Given the description of an element on the screen output the (x, y) to click on. 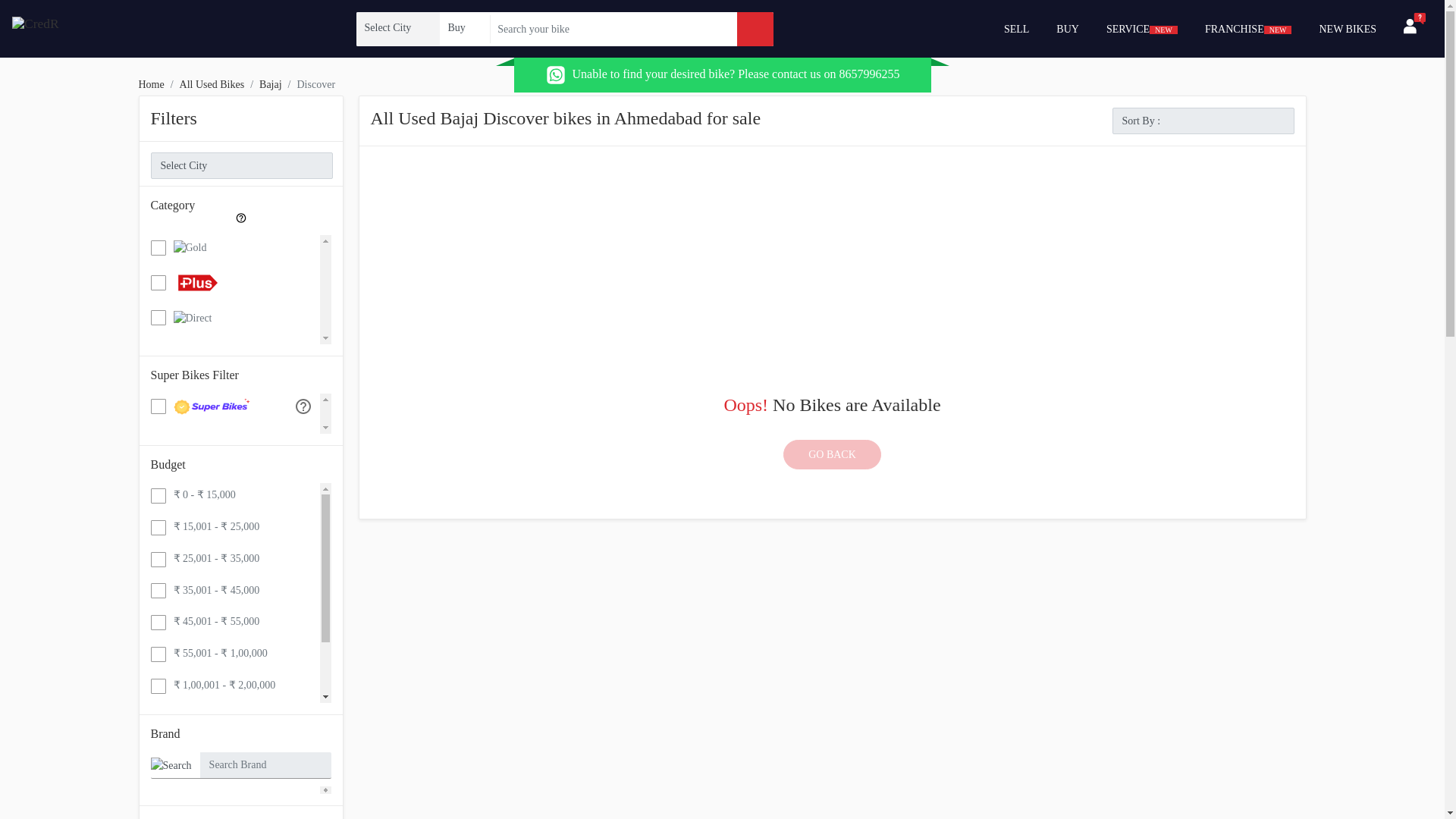
GO BACK (831, 454)
Select Option (397, 27)
NEW BIKES (1347, 28)
FRANCHISENEW (1248, 28)
SERVICENEW (1142, 28)
BUY (1067, 28)
SELL (1015, 28)
Select Option (463, 27)
